Given the description of an element on the screen output the (x, y) to click on. 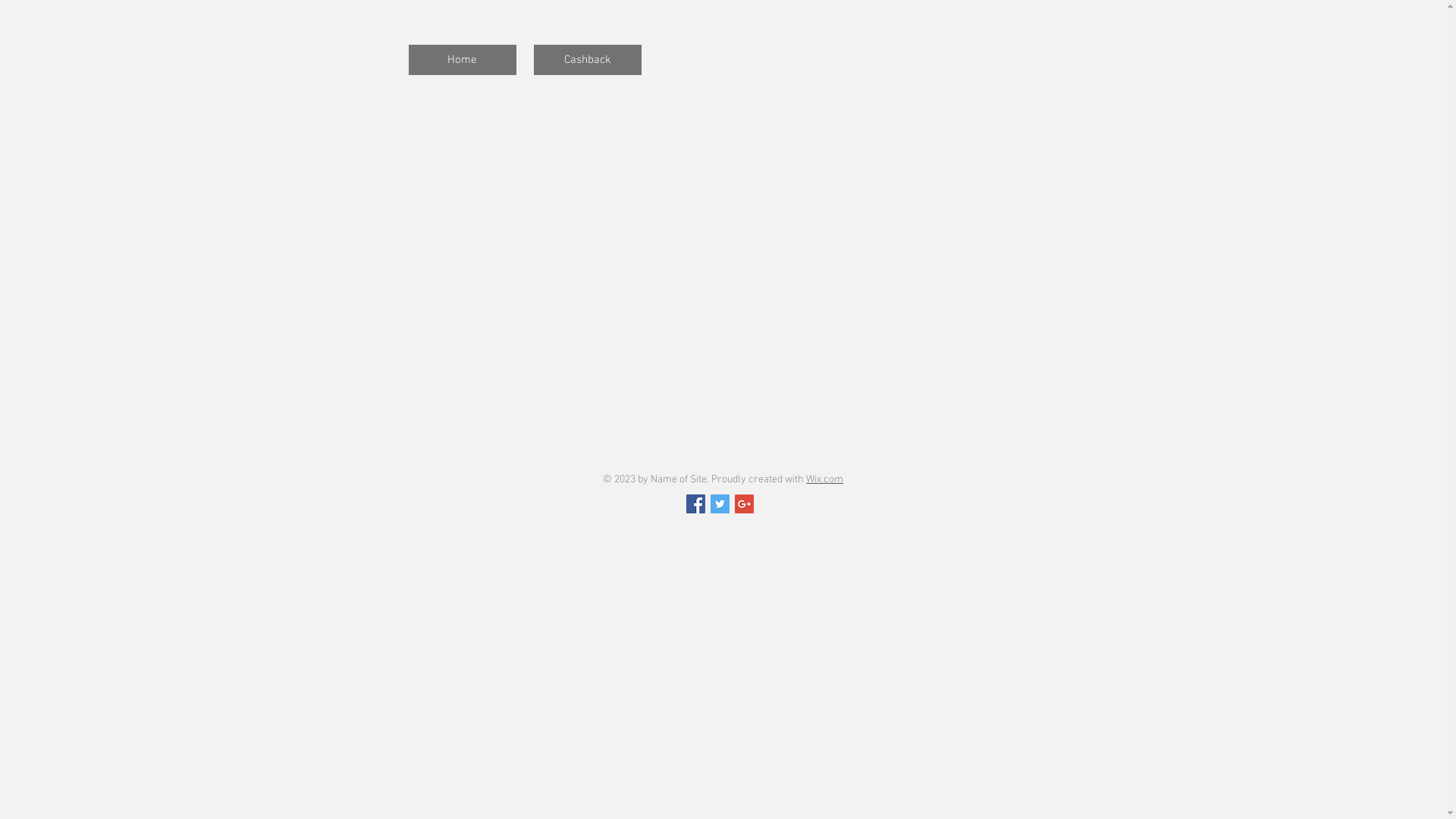
Home Element type: text (461, 59)
Cashback Element type: text (587, 59)
Wix.com Element type: text (824, 479)
